Given the description of an element on the screen output the (x, y) to click on. 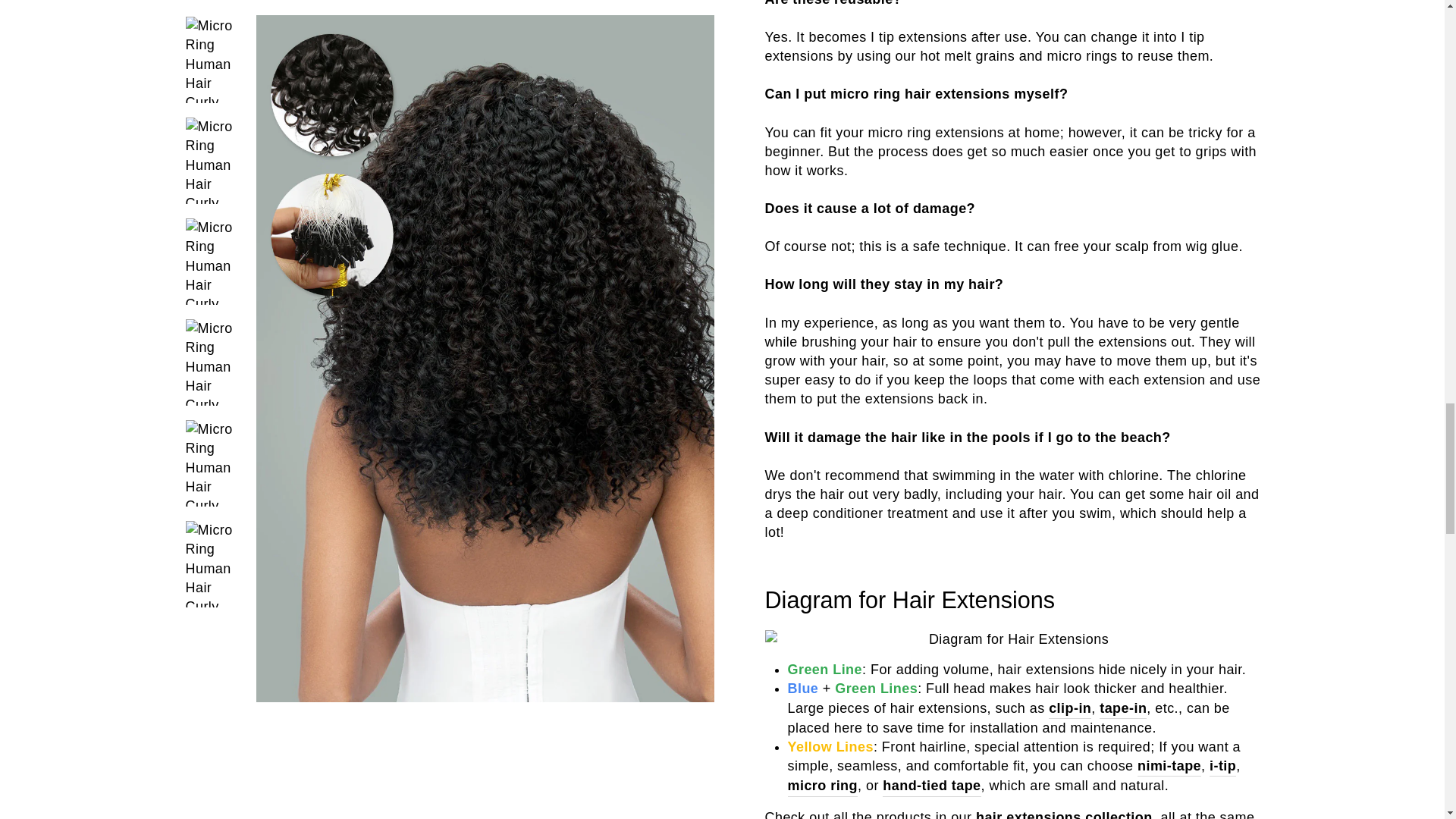
Tape in Extensions (1123, 709)
Seamless Clip in Hair Extensions Silicone Weft (1069, 709)
